Given the description of an element on the screen output the (x, y) to click on. 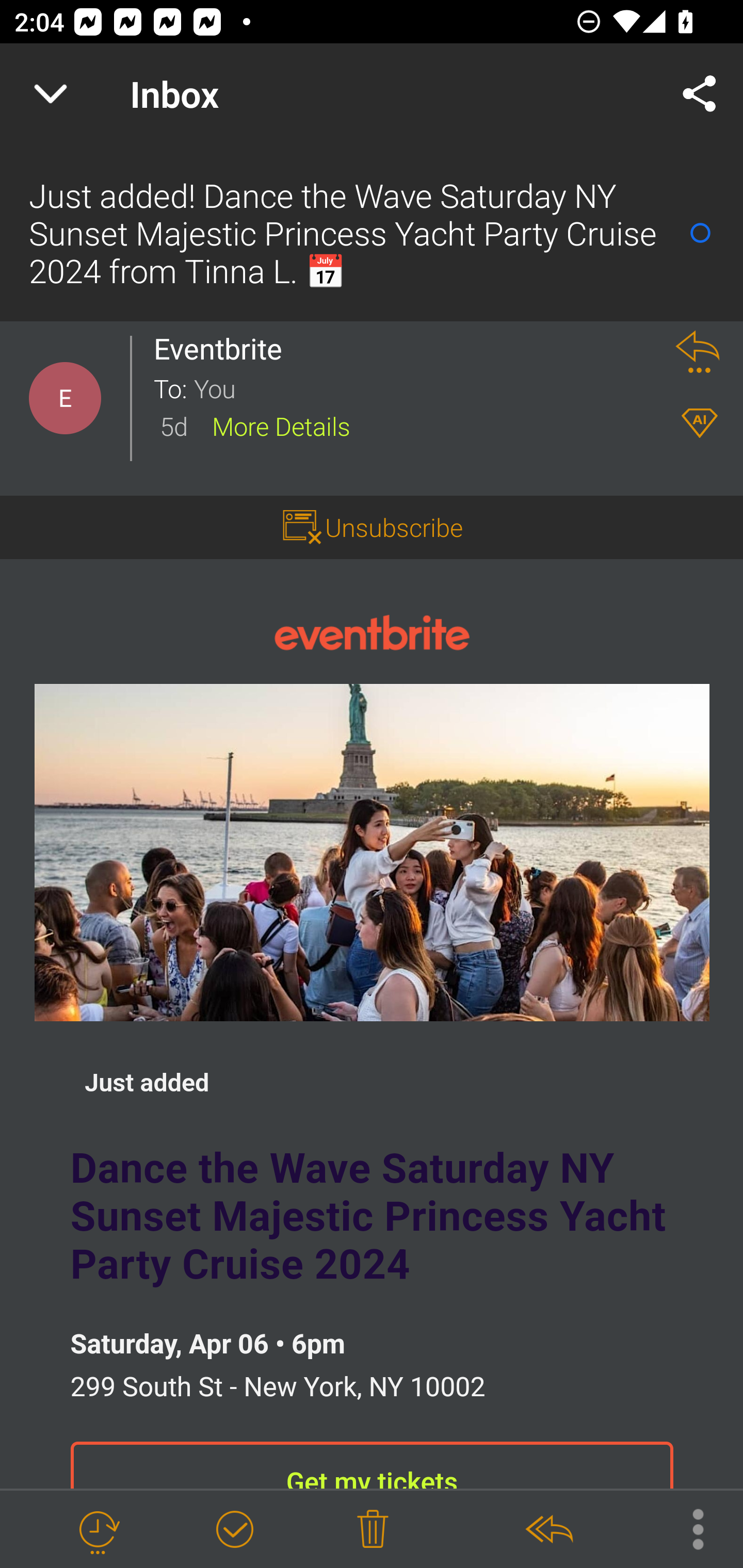
Navigate up (50, 93)
Share (699, 93)
Mark as Read (699, 232)
Eventbrite (222, 348)
Contact Details (64, 398)
You (422, 387)
More Details (280, 424)
Unsubscribe (393, 526)
Eventbrite (371, 631)
More Options (687, 1528)
Snooze (97, 1529)
Mark as Done (234, 1529)
Delete (372, 1529)
Reply All (548, 1529)
